Given the description of an element on the screen output the (x, y) to click on. 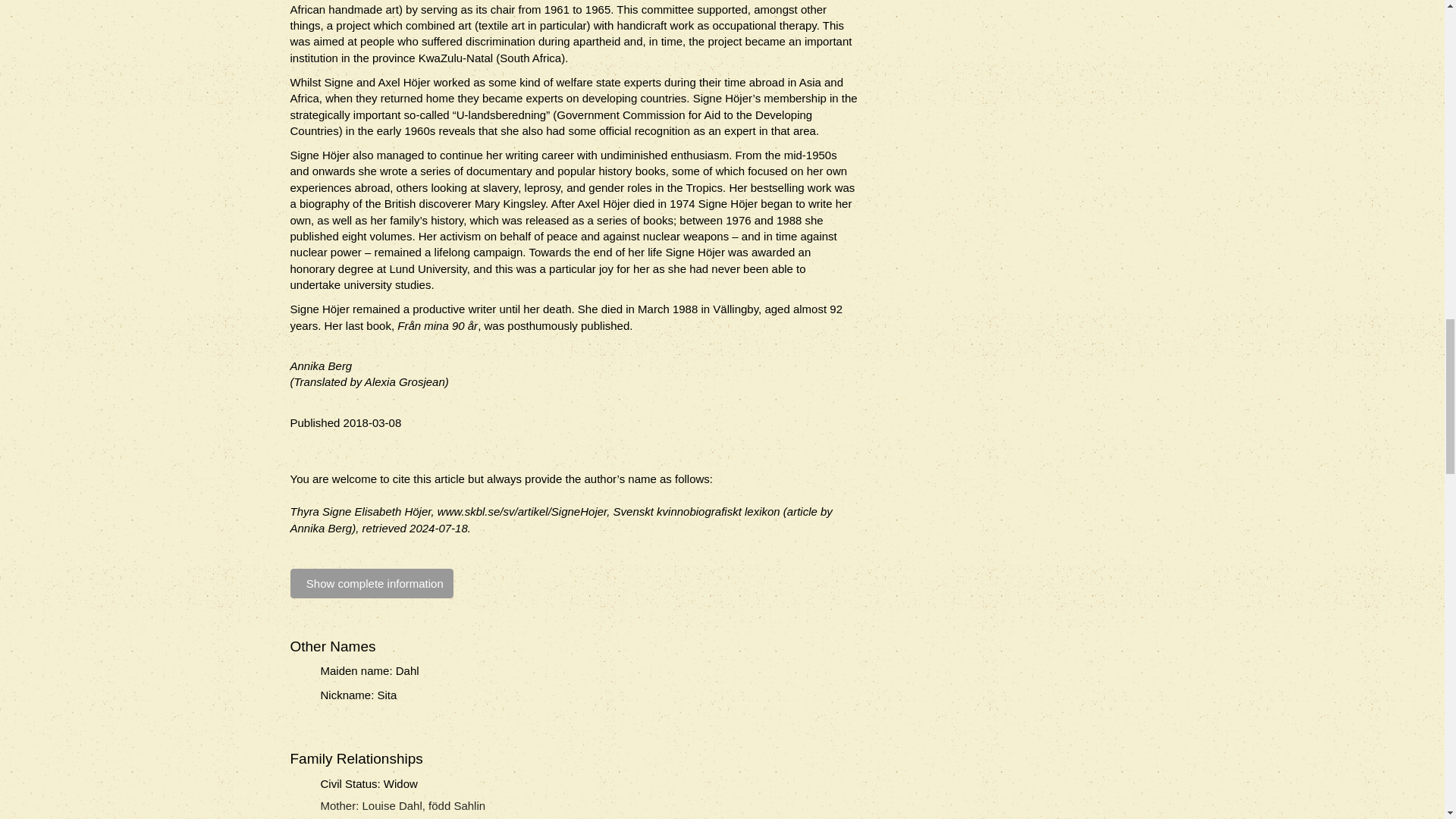
  Show complete information (370, 583)
Annika Berg (320, 365)
